Given the description of an element on the screen output the (x, y) to click on. 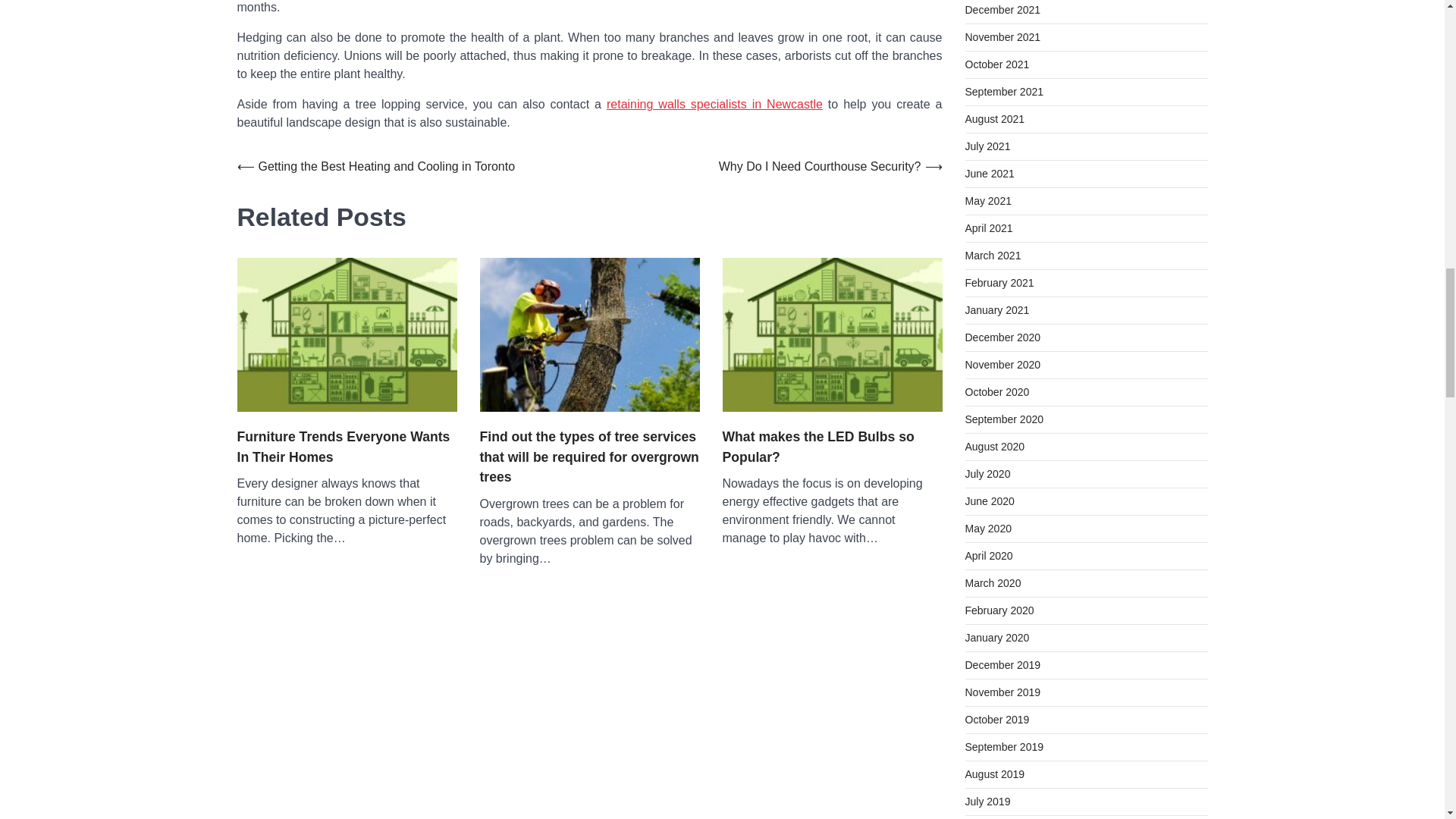
retaining walls specialists in Newcastle (714, 103)
What makes the LED Bulbs so Popular? (832, 446)
Furniture Trends Everyone Wants In Their Homes (346, 446)
